Given the description of an element on the screen output the (x, y) to click on. 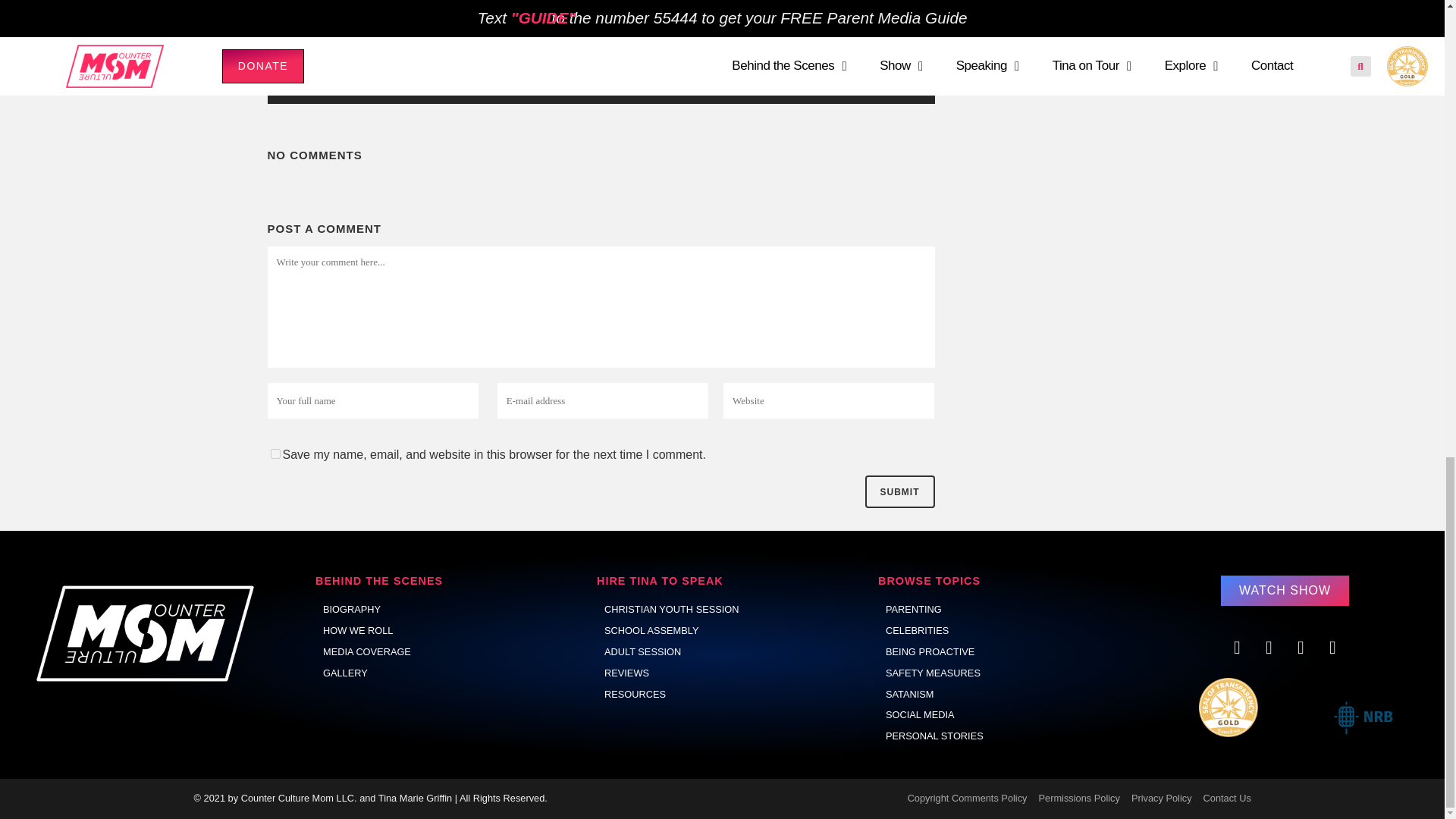
Submit (899, 491)
yes (274, 453)
